Given the description of an element on the screen output the (x, y) to click on. 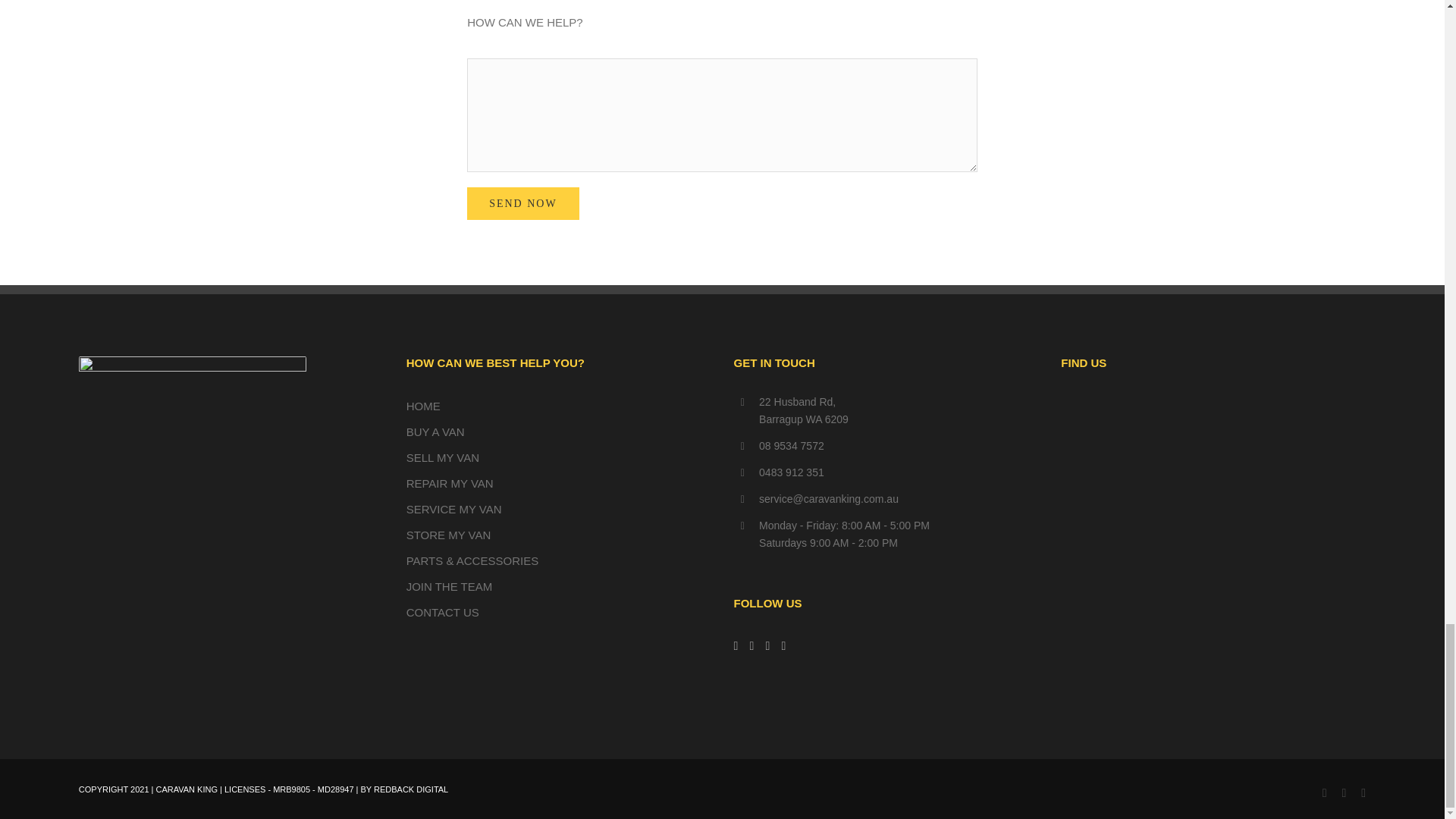
REPAIR MY VAN (449, 482)
SEND NOW (523, 203)
BUY A VAN (435, 431)
HOME (423, 405)
SELL MY VAN (442, 457)
SERVICE MY VAN (454, 508)
SEND NOW (523, 203)
